Given the description of an element on the screen output the (x, y) to click on. 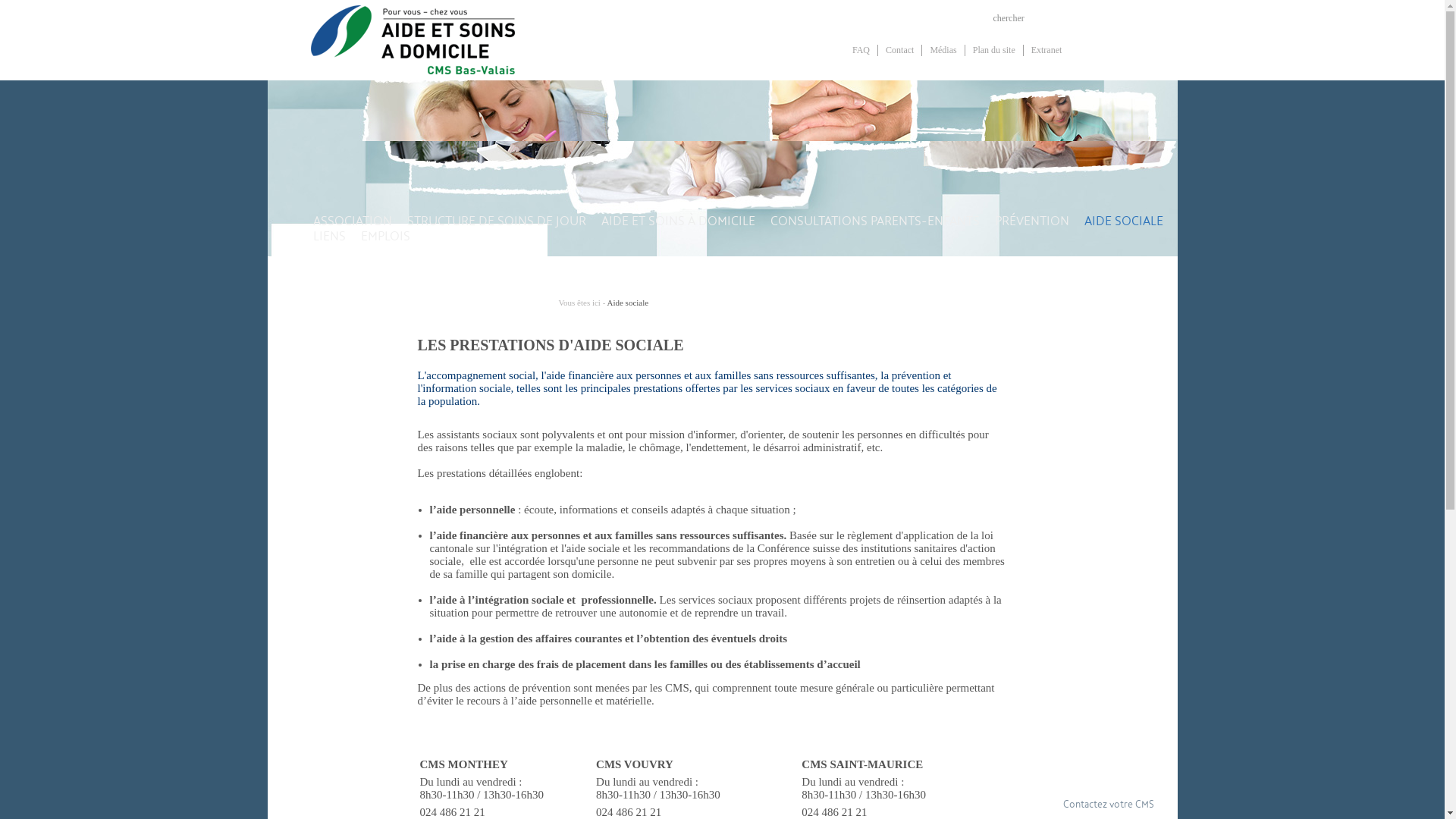
LIENS Element type: text (328, 258)
EMPLOIS Element type: text (385, 258)
Extranet Element type: text (1046, 52)
STRUCTURE DE SOINS DE JOUR Element type: text (495, 243)
CONSULTATIONS PARENTS-ENFANTS Element type: text (874, 243)
FAQ Element type: text (860, 52)
Plan du site Element type: text (993, 52)
ASSOCIATION Element type: text (351, 243)
Contact Element type: text (899, 52)
AIDE SOCIALE Element type: text (1123, 243)
